Given the description of an element on the screen output the (x, y) to click on. 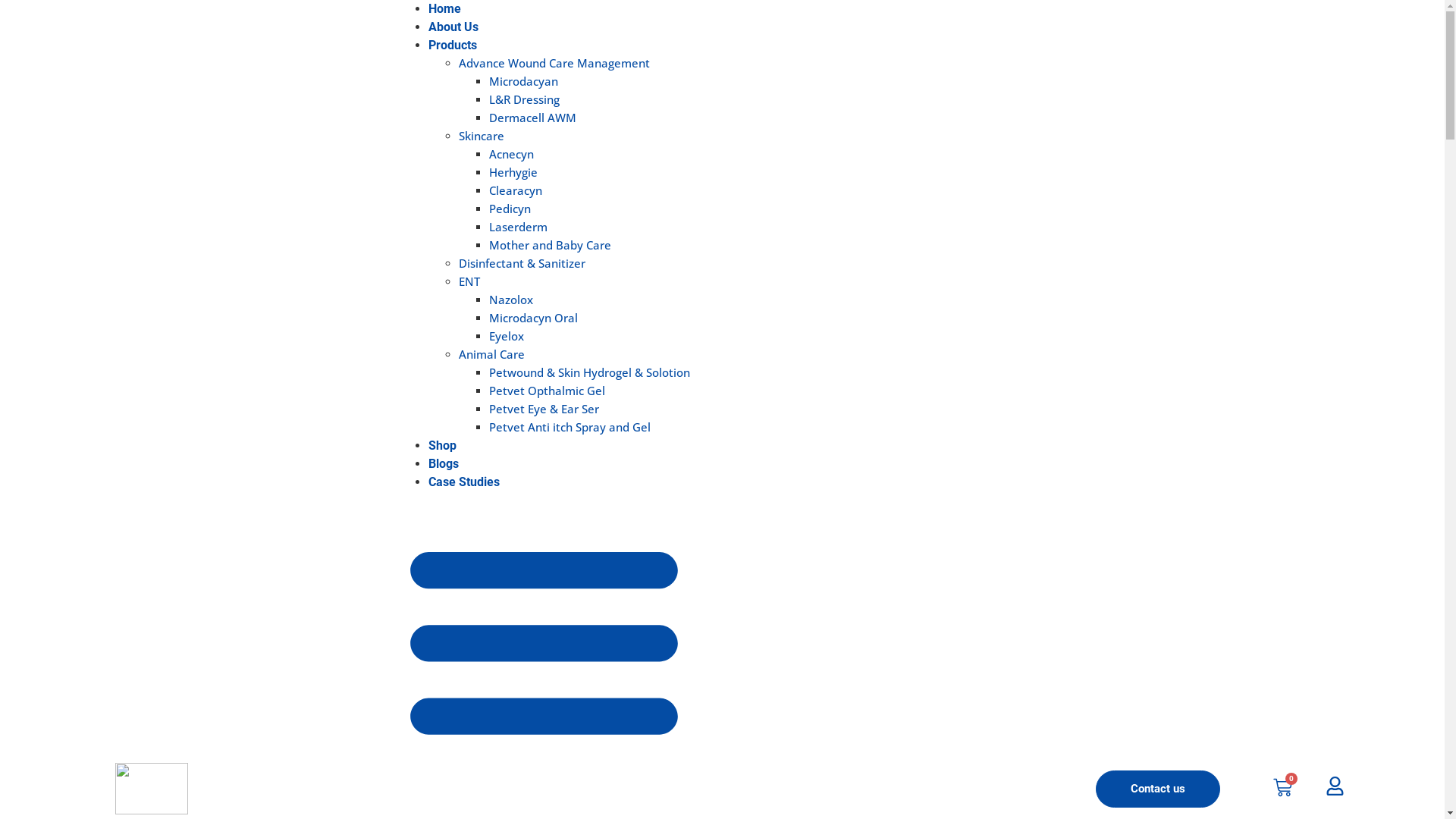
Case Studies Element type: text (463, 481)
Microdacyan Element type: text (523, 80)
Advance Wound Care Management Element type: text (553, 62)
Animal Care Element type: text (491, 353)
Disinfectant & Sanitizer Element type: text (521, 262)
Shop Element type: text (442, 445)
About Us Element type: text (453, 26)
Petvet Anti itch Spray and Gel Element type: text (569, 426)
Clearacyn Element type: text (515, 189)
Pedicyn Element type: text (509, 208)
Dermacell AWM Element type: text (532, 117)
Products Element type: text (452, 45)
Blogs Element type: text (443, 463)
Herhygie Element type: text (513, 171)
Acnecyn Element type: text (511, 153)
Petvet Eye & Ear Ser Element type: text (544, 408)
Laserderm Element type: text (518, 226)
Petvet Opthalmic Gel Element type: text (547, 390)
0 Element type: text (1282, 788)
Nazolox Element type: text (511, 299)
Petwound & Skin Hydrogel & Solotion Element type: text (589, 371)
Mother and Baby Care Element type: text (550, 244)
Contact us Element type: text (1157, 788)
Eyelox Element type: text (506, 335)
ENT Element type: text (469, 280)
Microdacyn Oral Element type: text (533, 317)
Skincare Element type: text (481, 135)
L&R Dressing Element type: text (524, 98)
